Given the description of an element on the screen output the (x, y) to click on. 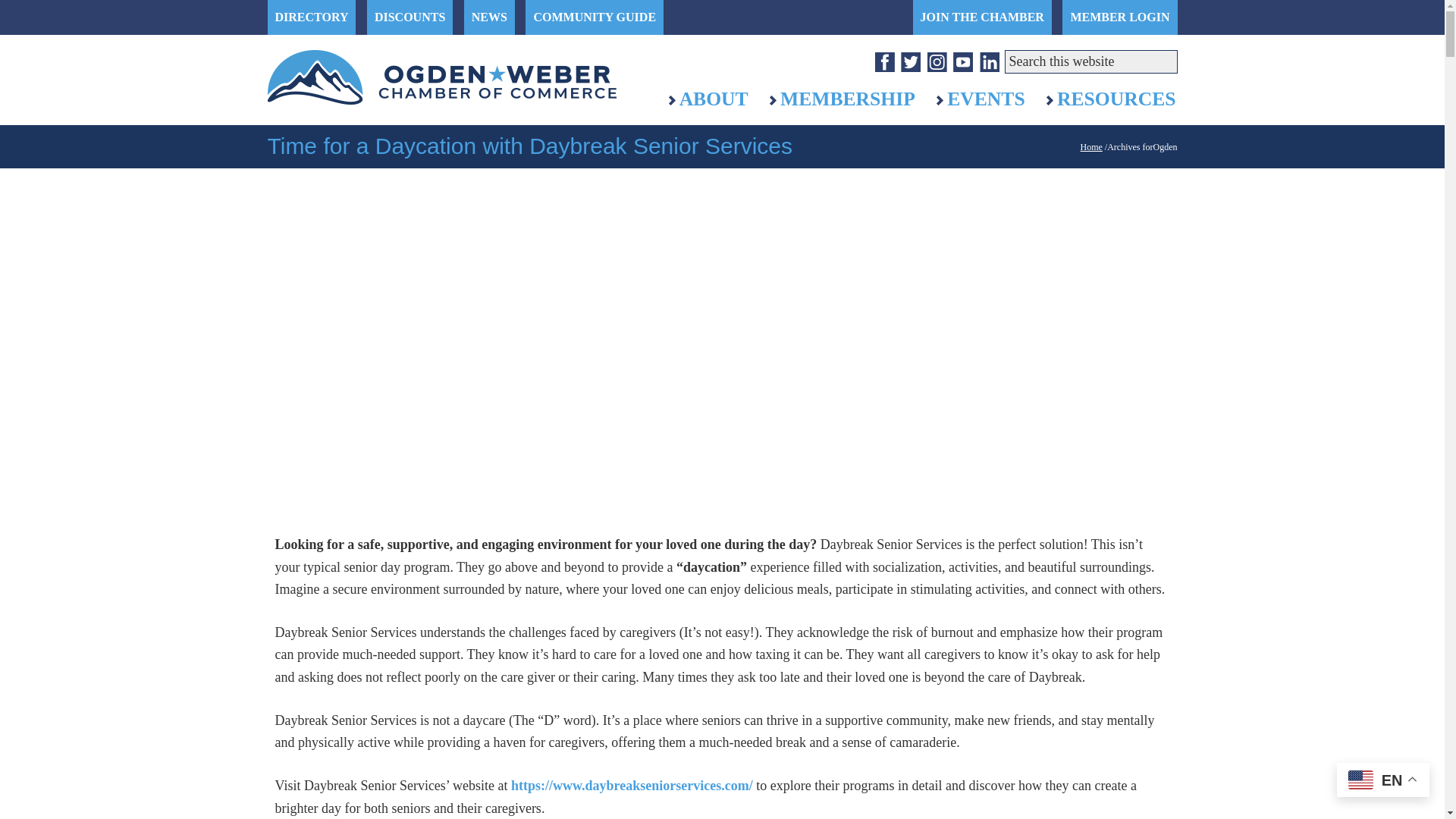
DISCOUNTS (409, 17)
Day Break Spotlight (464, 369)
Search (1181, 52)
NEWS (489, 17)
COMMUNITY GUIDE (594, 17)
Search (1181, 52)
ABOUT (707, 99)
JOIN THE CHAMBER (981, 17)
MEMBER LOGIN (1119, 17)
MEMBERSHIP (841, 99)
